Given the description of an element on the screen output the (x, y) to click on. 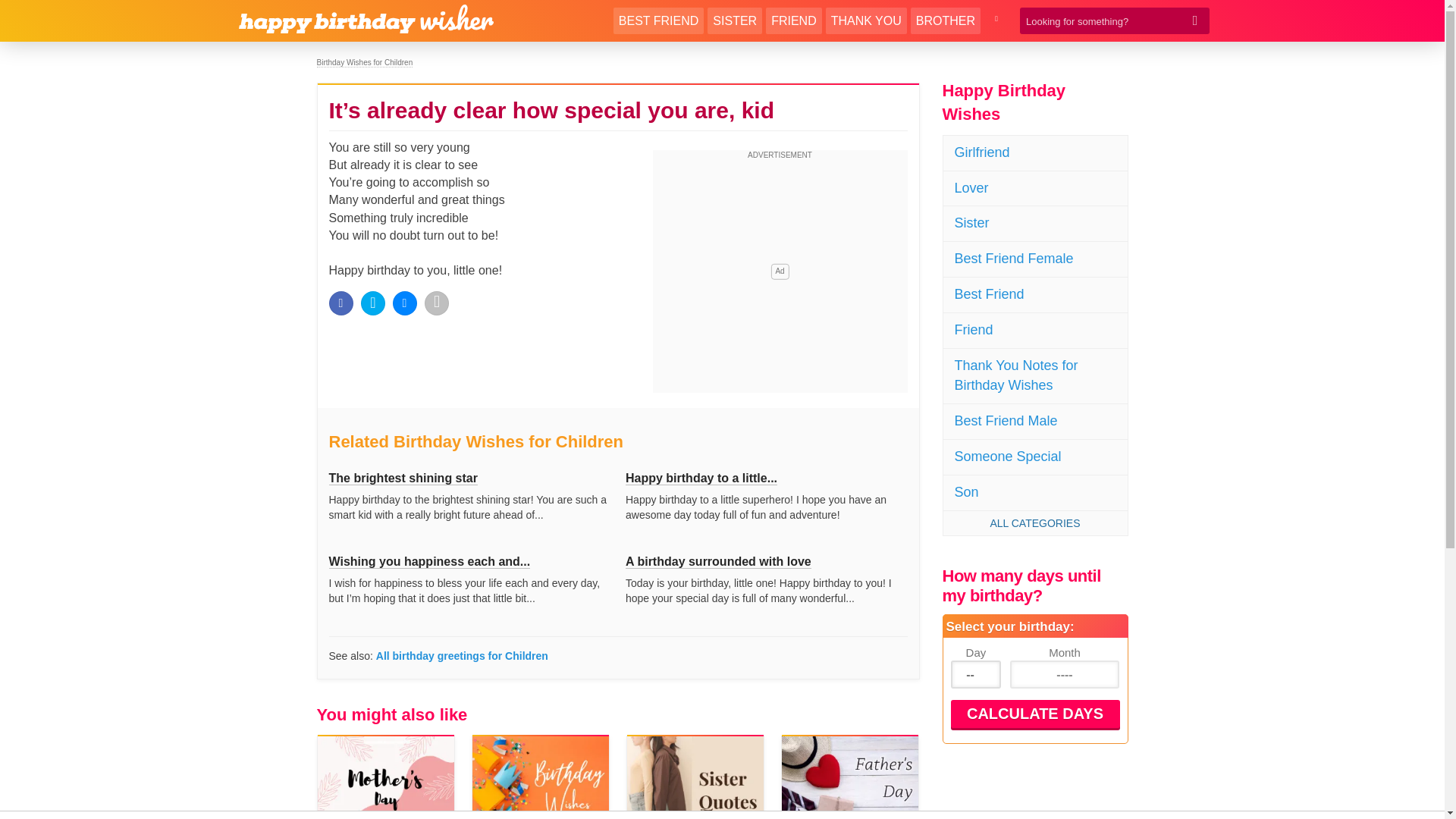
Birthday Wishes for Children (365, 62)
BROTHER (945, 20)
FRIEND (793, 20)
The brightest shining star (403, 478)
Girlfriend (1034, 152)
Calculate Days (1034, 714)
SISTER (734, 20)
70 Sister Quotes to Celebrate Your Special Bond (695, 777)
Email (436, 303)
BEST FRIEND (658, 20)
